Given the description of an element on the screen output the (x, y) to click on. 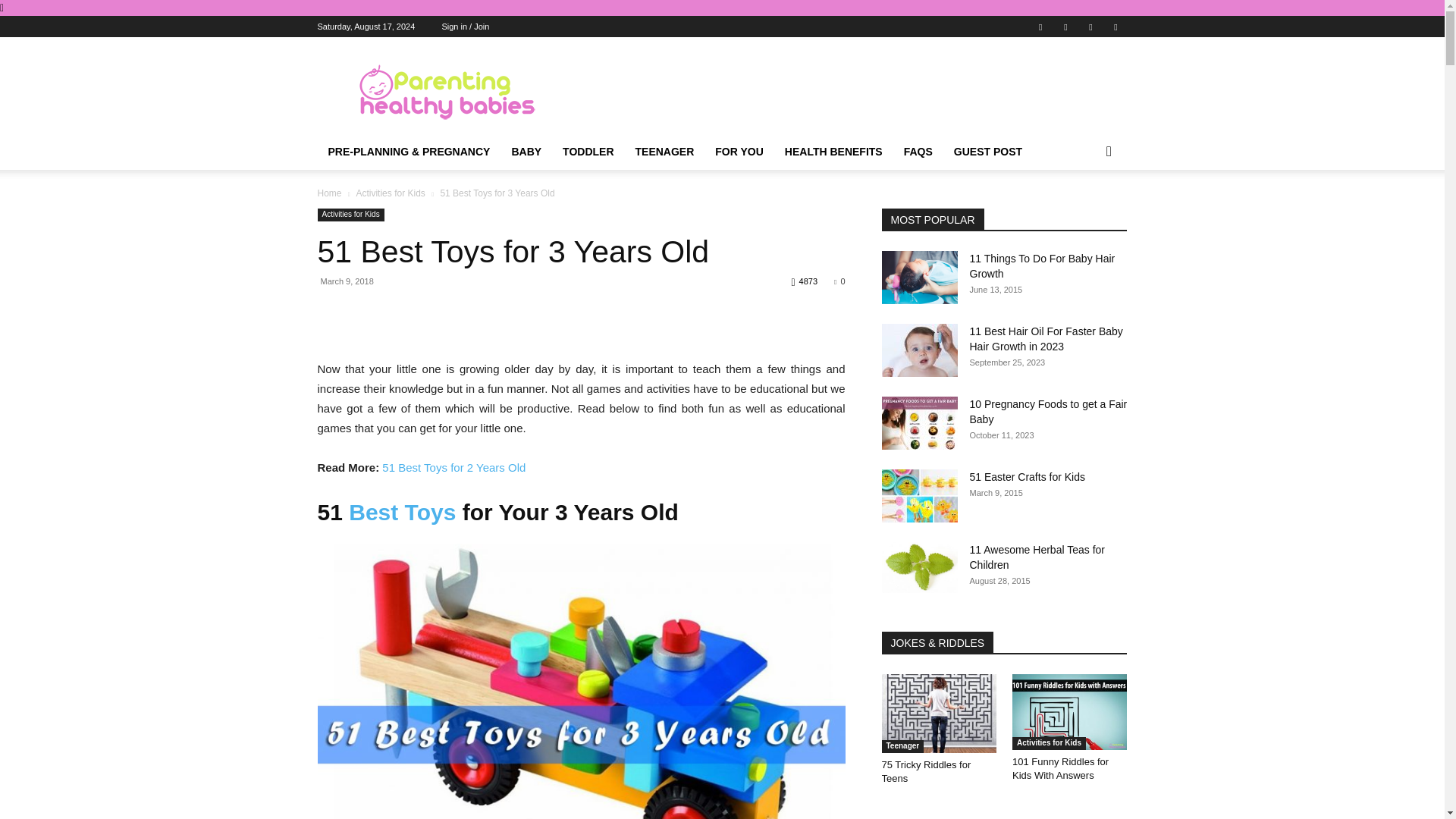
Youtube (1114, 25)
Search (1085, 211)
Activities for Kids (350, 214)
FOR YOU (739, 151)
Twitter (1090, 25)
BABY (525, 151)
Activities for Kids (390, 193)
TEENAGER (664, 151)
Permanent Link to 51 Best Toys for 2 Years Old (453, 467)
Facebook (1040, 25)
